Given the description of an element on the screen output the (x, y) to click on. 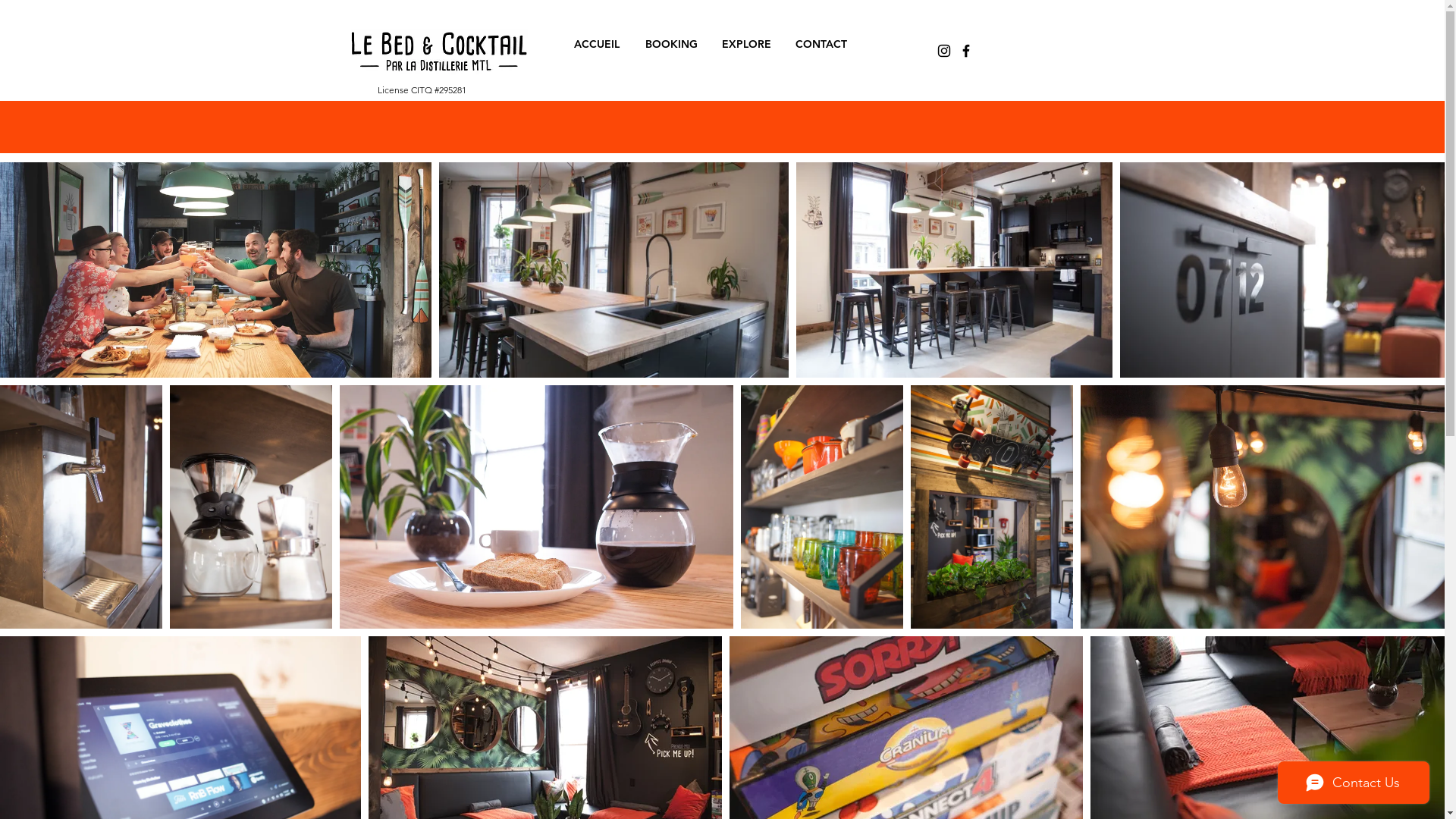
BOOKING Element type: text (671, 44)
Embedded Content Element type: hover (721, 292)
ACCUEIL Element type: text (595, 44)
EXPLORE Element type: text (745, 44)
CONTACT Element type: text (820, 44)
